Given the description of an element on the screen output the (x, y) to click on. 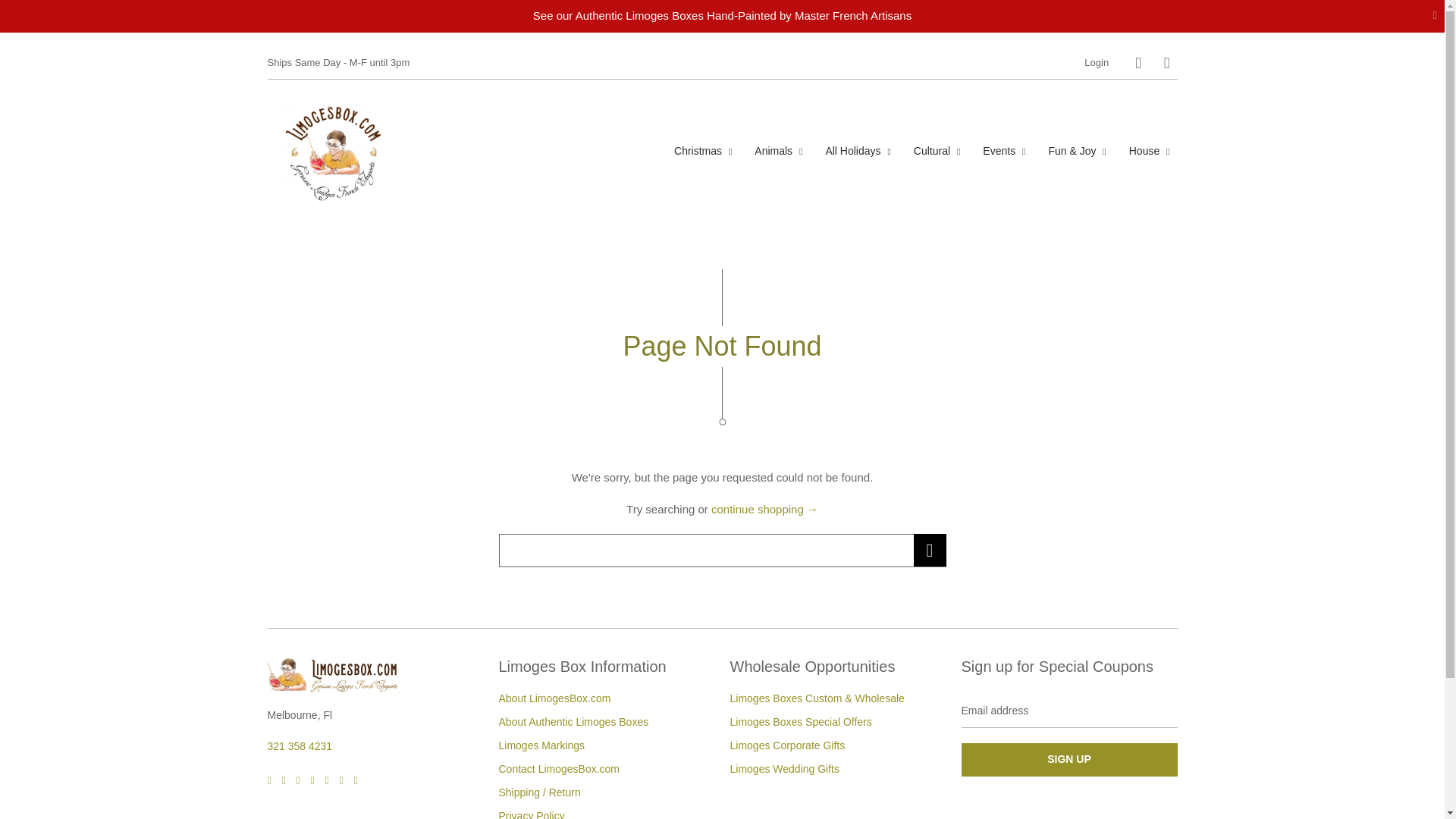
Login (1096, 61)
Cultural (936, 150)
Christmas (702, 150)
All Holidays (857, 150)
Sign Up (1068, 759)
Animals (777, 150)
My Account  (1096, 61)
